Given the description of an element on the screen output the (x, y) to click on. 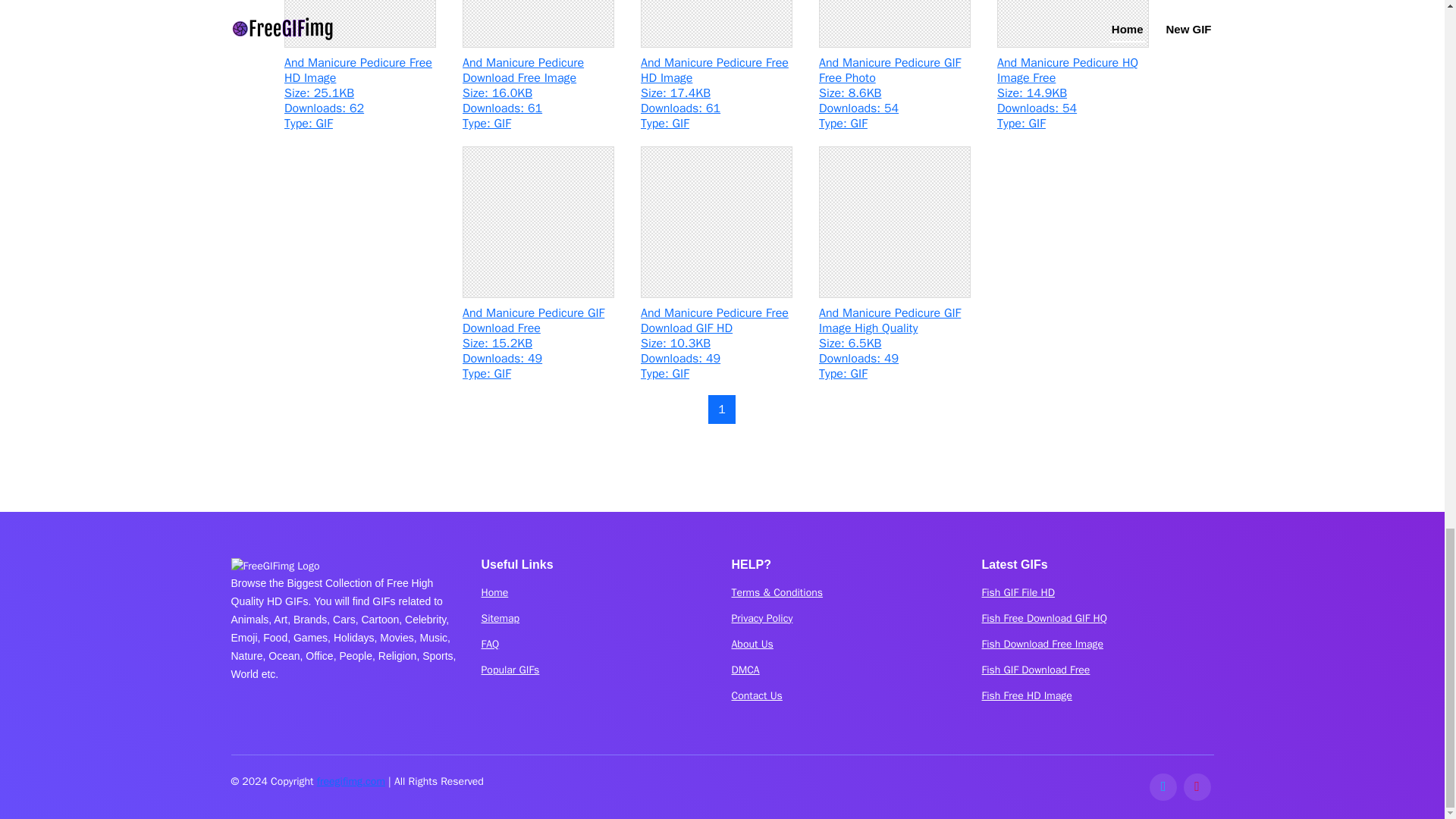
1 (721, 409)
Home (494, 593)
